Given the description of an element on the screen output the (x, y) to click on. 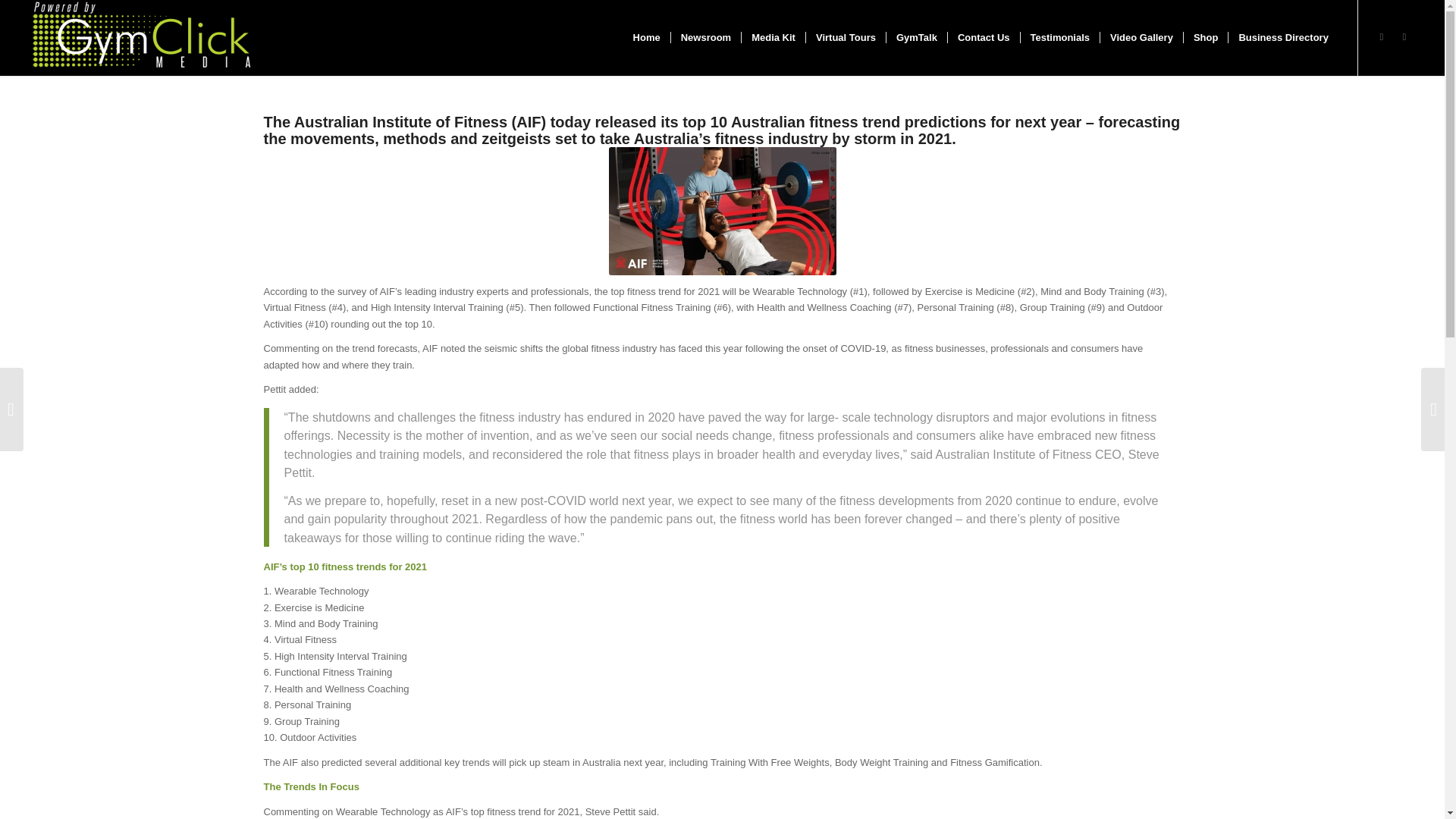
Facebook (1404, 36)
Business Directory (1282, 38)
Testimonials (1060, 38)
5 banners10 (721, 211)
Video Gallery (1140, 38)
Virtual Tours (845, 38)
Instagram (1381, 36)
Contact Us (983, 38)
Newsroom (705, 38)
